Given the description of an element on the screen output the (x, y) to click on. 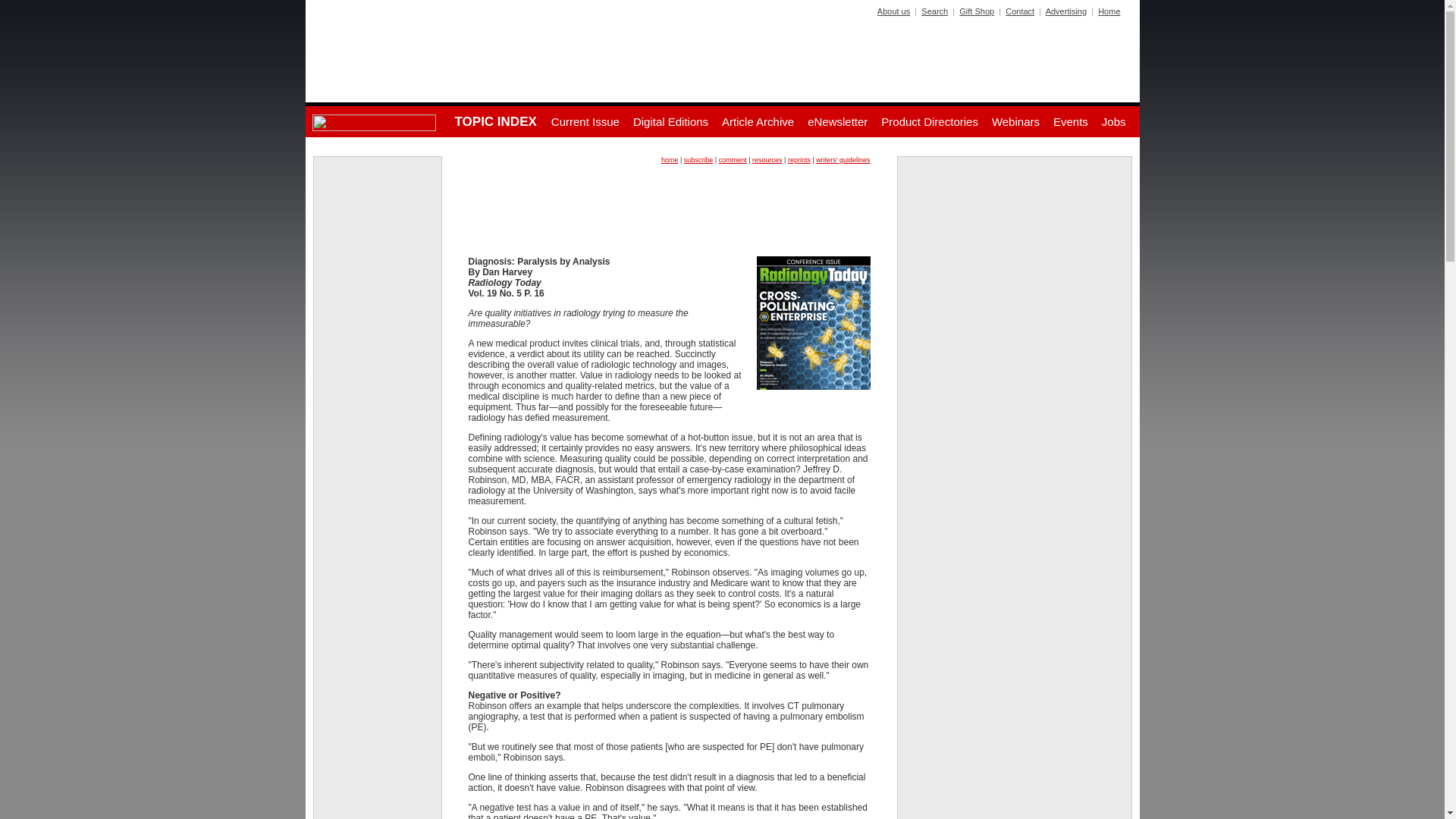
3rd party ad content (1014, 600)
Advertising (1065, 10)
TOPIC INDEX (494, 121)
3rd party ad content (1014, 262)
eNewsletter (837, 121)
3rd party ad content (668, 205)
subscribe (698, 159)
Current Issue (585, 121)
Events (1070, 121)
About us (893, 10)
reprints (798, 159)
3rd party ad content (377, 206)
Digital Editions (670, 121)
Product Directories (930, 121)
Gift Shop (976, 10)
